Given the description of an element on the screen output the (x, y) to click on. 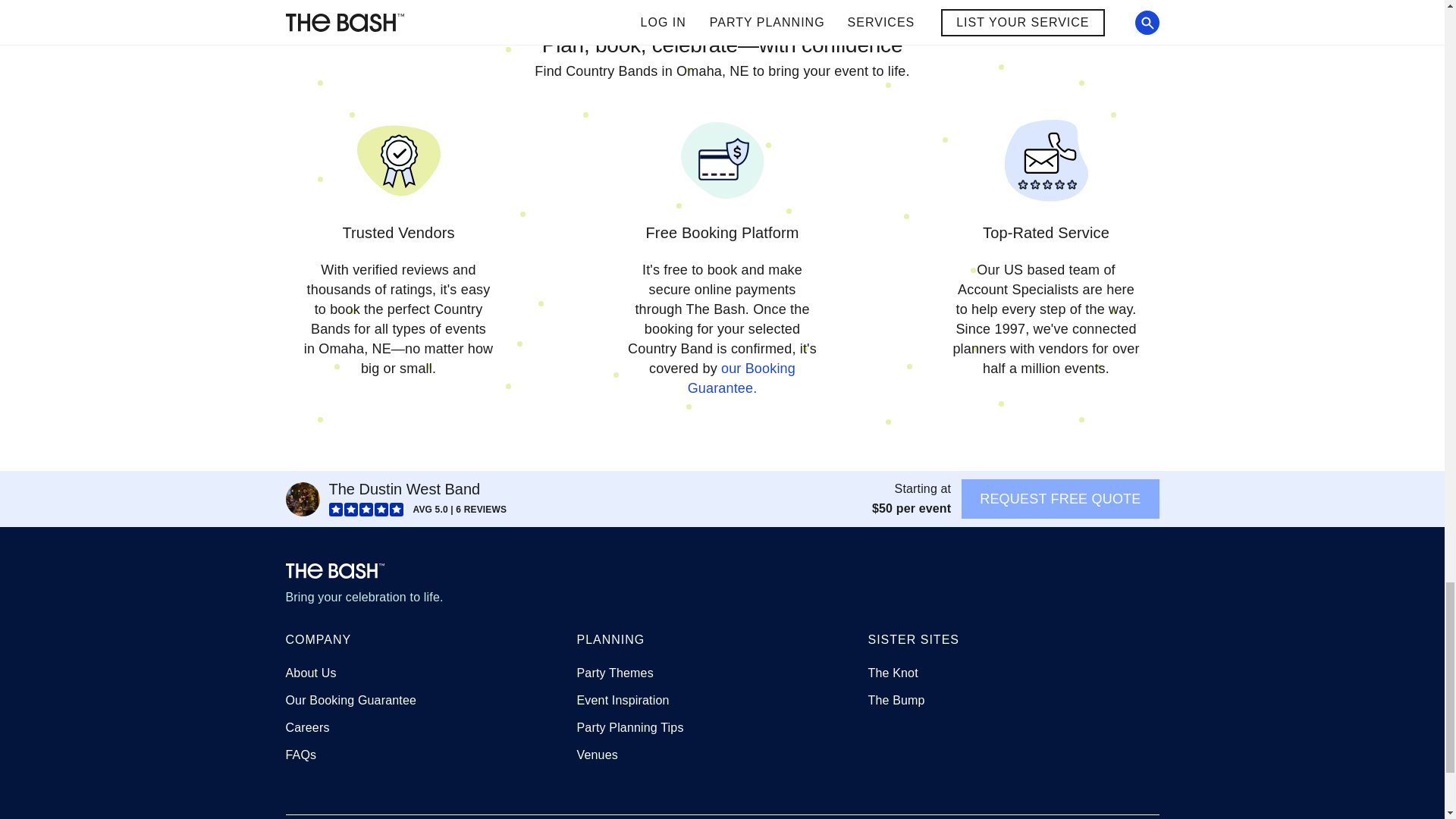
The Bash Logo (334, 570)
Frequently Asked Questions (300, 754)
